Given the description of an element on the screen output the (x, y) to click on. 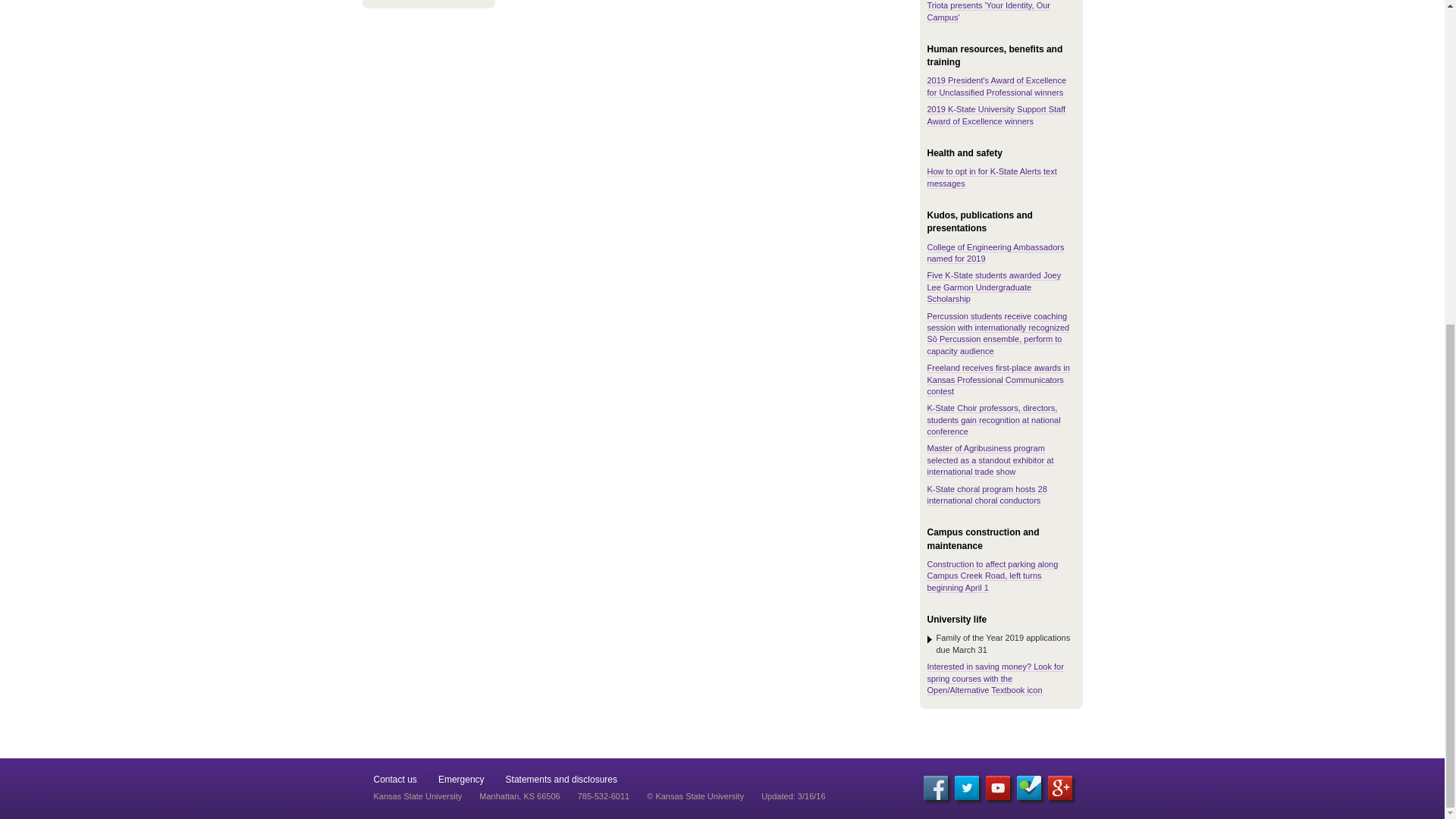
Triota presents 'Your Identity, Our Campus' (987, 11)
